Given the description of an element on the screen output the (x, y) to click on. 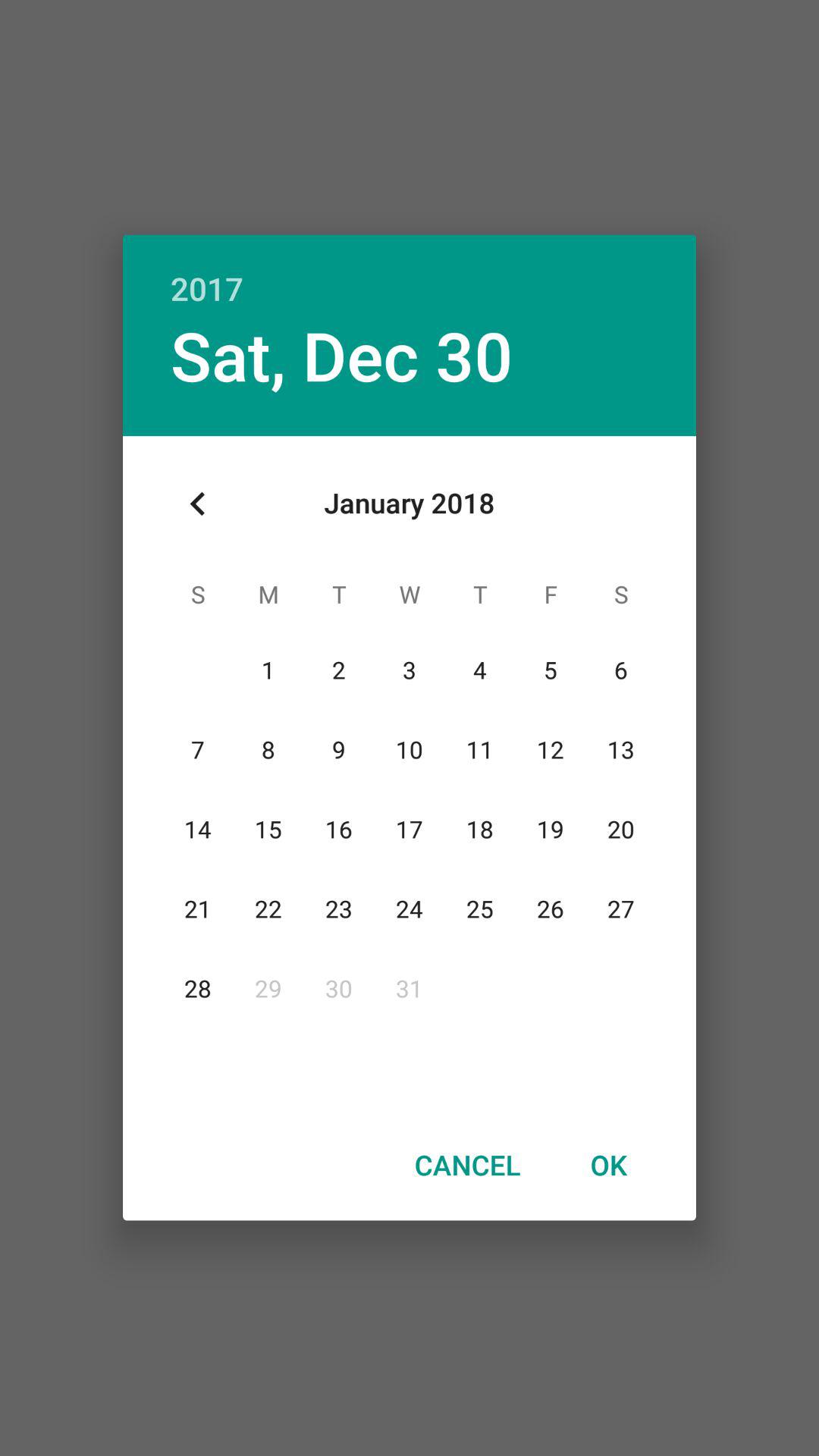
open icon at the bottom (467, 1164)
